Given the description of an element on the screen output the (x, y) to click on. 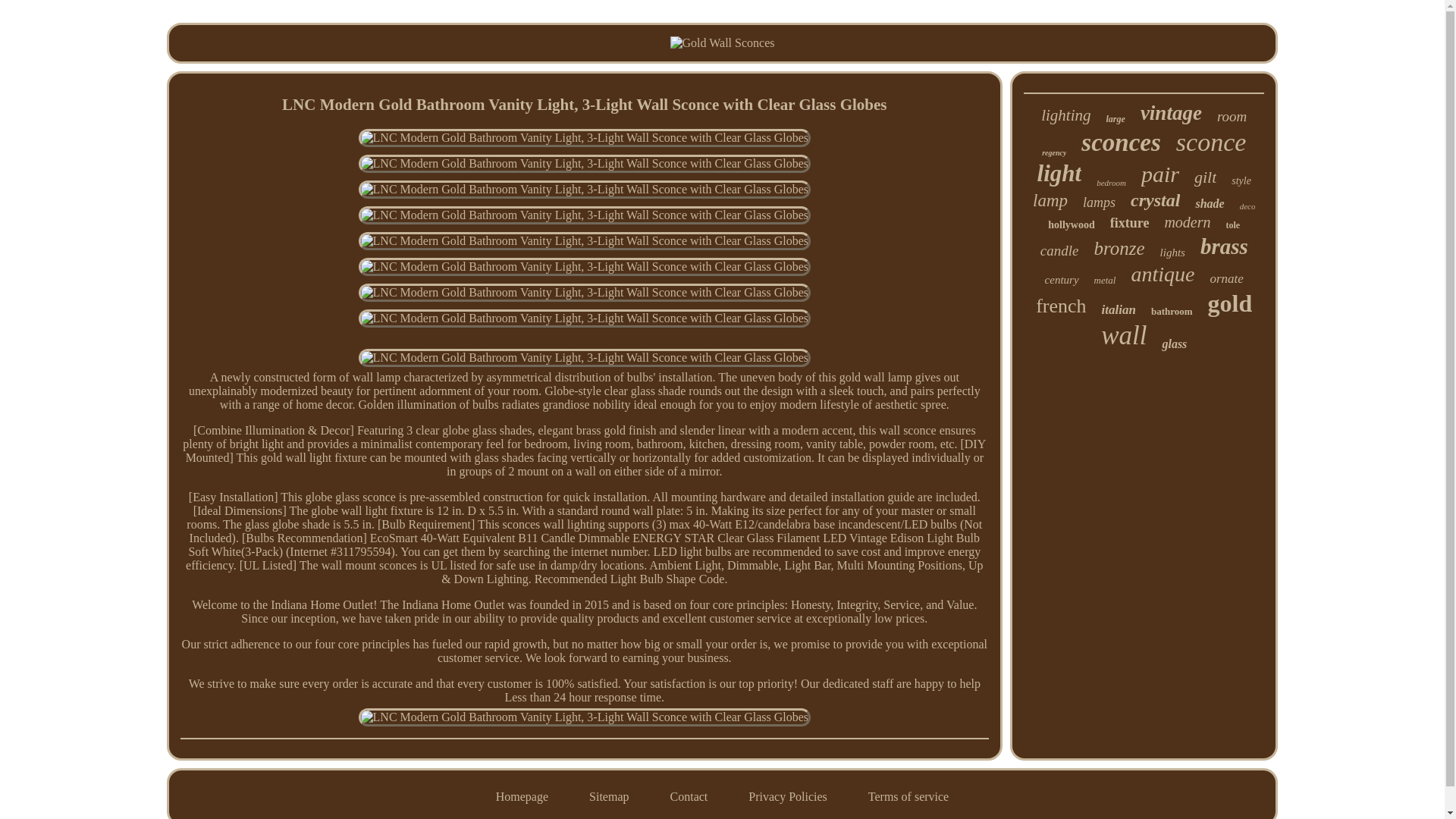
brass (1223, 246)
lamps (1099, 202)
light (1058, 173)
century (1061, 279)
room (1231, 116)
large (1115, 119)
lights (1172, 252)
modern (1186, 221)
antique (1162, 274)
hollywood (1071, 224)
